Given the description of an element on the screen output the (x, y) to click on. 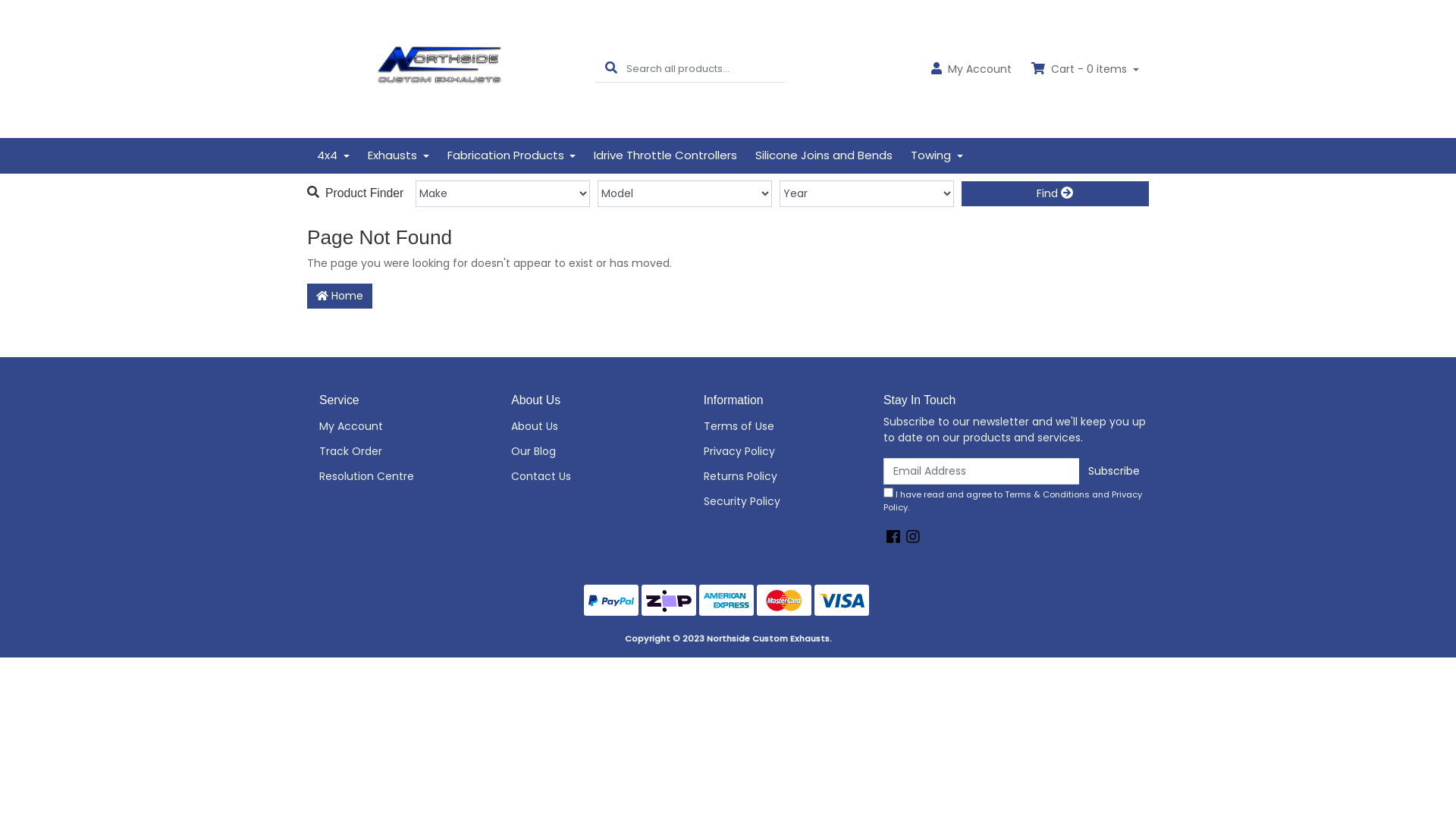
Idrive Throttle Controllers Element type: text (665, 155)
Towing Element type: text (936, 155)
Our Blog Element type: text (583, 451)
Cart - 0 items Element type: text (1084, 69)
Subscribe Element type: text (1113, 471)
Security Policy Element type: text (775, 501)
Search Element type: text (611, 68)
Home Element type: text (339, 295)
Facebook Element type: text (893, 536)
Resolution Centre Element type: text (391, 476)
Returns Policy Element type: text (775, 476)
My Account Element type: text (391, 426)
Instagram Element type: text (912, 536)
About Us Element type: text (583, 426)
Terms of Use Element type: text (775, 426)
Track Order Element type: text (391, 451)
Silicone Joins and Bends Element type: text (823, 155)
Contact Us Element type: text (583, 476)
Terms & Conditions Element type: text (1046, 494)
Privacy Policy Element type: text (1012, 500)
Fabrication Products Element type: text (511, 155)
Find Element type: text (1054, 192)
Exhausts Element type: text (398, 155)
Privacy Policy Element type: text (775, 451)
4x4 Element type: text (332, 155)
Northside Custom Exhausts Element type: hover (439, 67)
My Account Element type: text (971, 69)
